Given the description of an element on the screen output the (x, y) to click on. 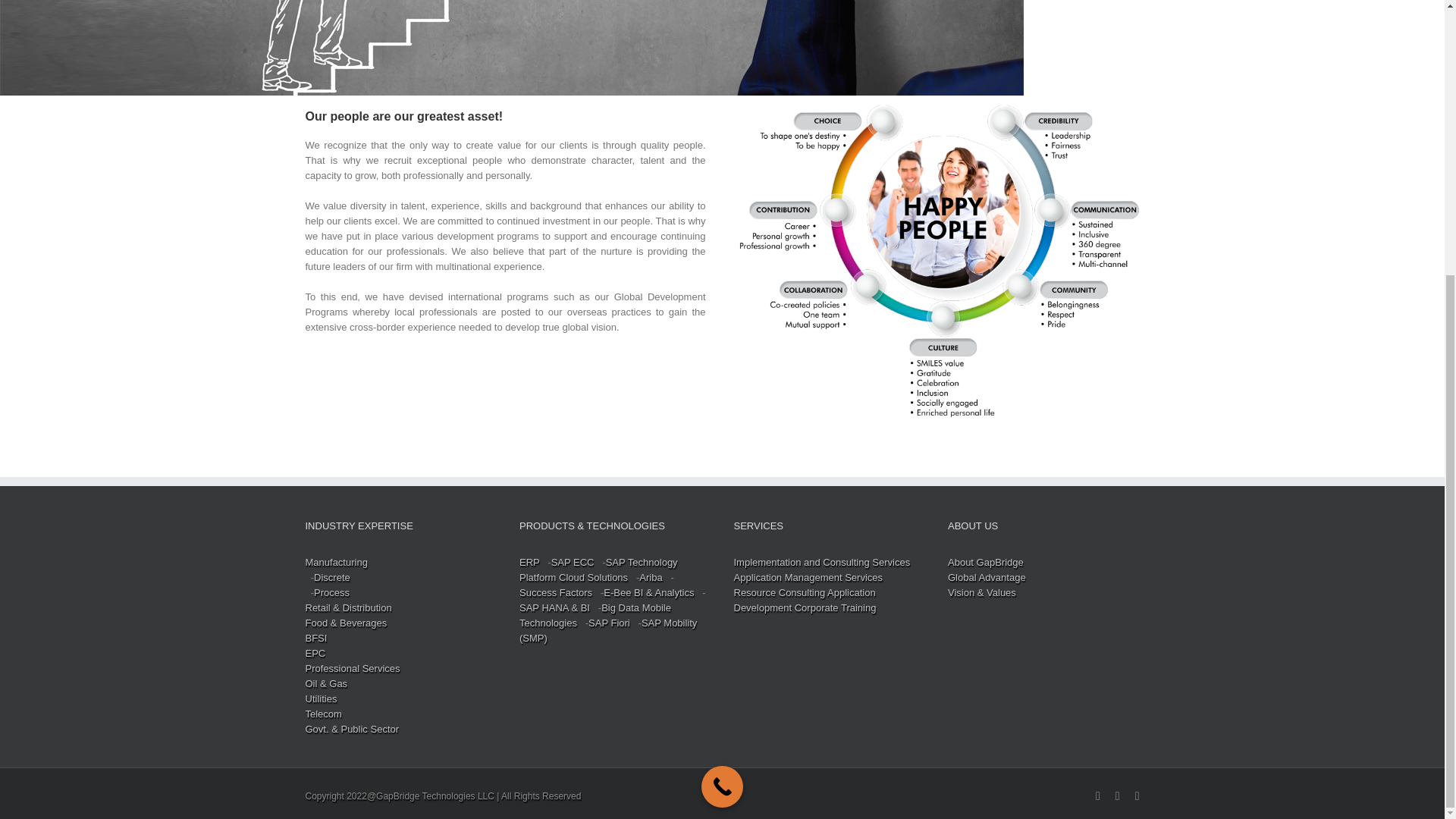
EPC (314, 653)
SAP (529, 562)
Utilities (320, 698)
Discrete (332, 577)
Manufacturing (335, 562)
Professional Services (351, 668)
Telecom (322, 713)
BFSI (315, 637)
Process (331, 592)
